Given the description of an element on the screen output the (x, y) to click on. 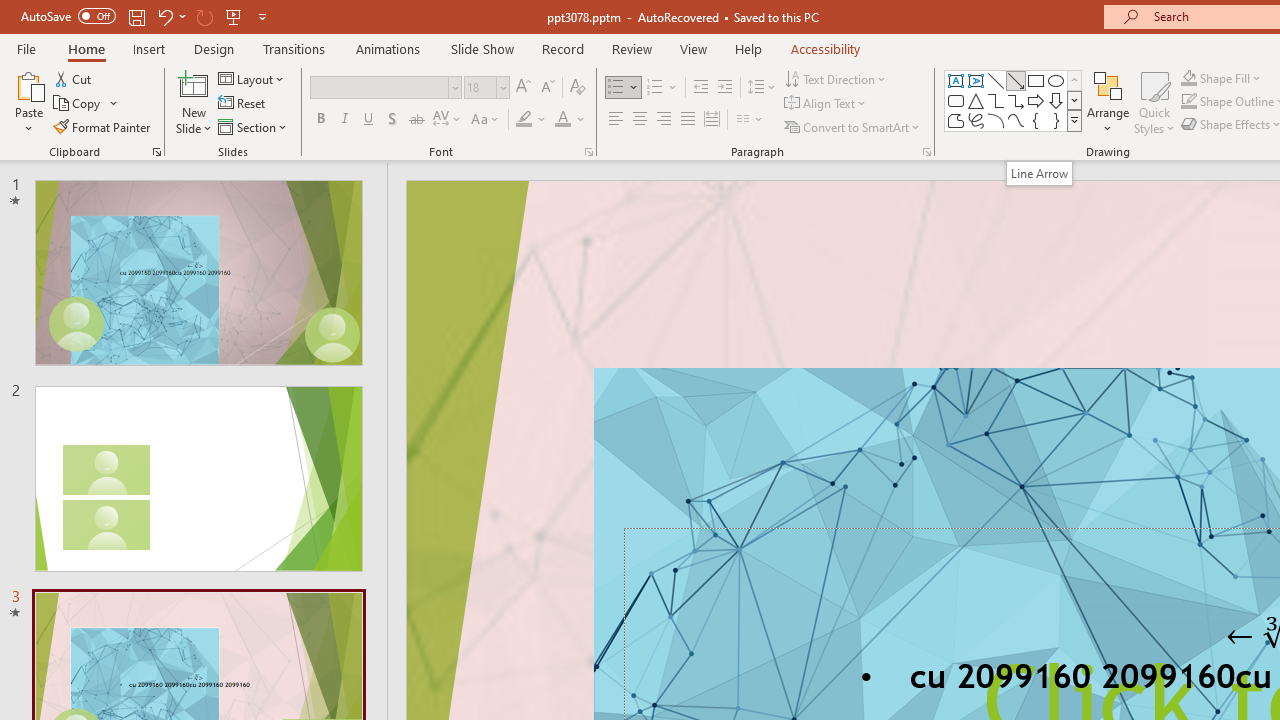
Italic (344, 119)
Text Highlight Color Yellow (524, 119)
Distributed (712, 119)
Bold (320, 119)
Format Painter (103, 126)
